Given the description of an element on the screen output the (x, y) to click on. 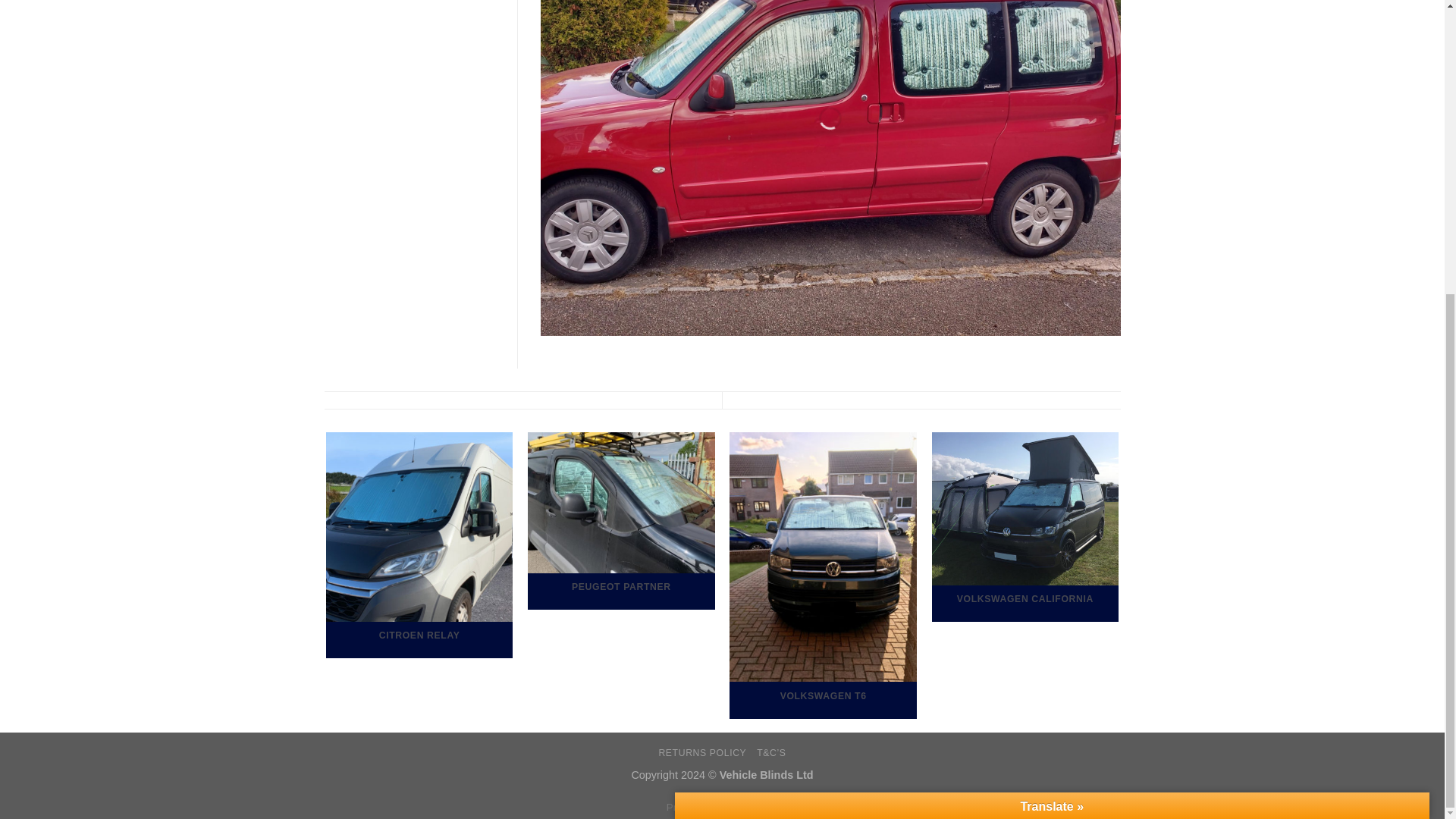
PEUGEOT PARTNER (620, 520)
RETURNS POLICY (701, 752)
VOLKSWAGEN CALIFORNIA (1025, 526)
VW T32 (1227, 450)
